Given the description of an element on the screen output the (x, y) to click on. 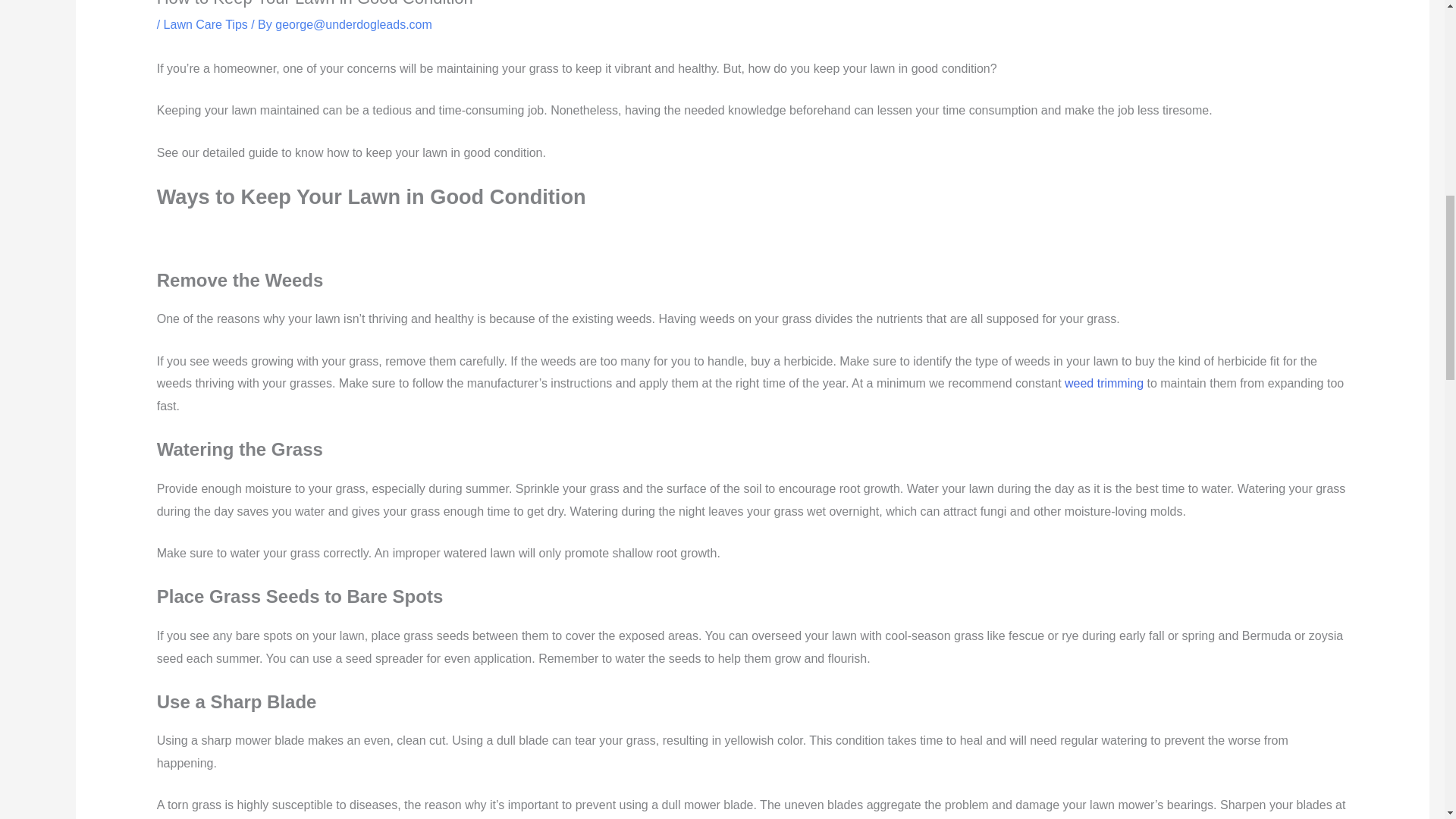
Lawn Care Tips (205, 24)
weed trimming (1103, 382)
